Given the description of an element on the screen output the (x, y) to click on. 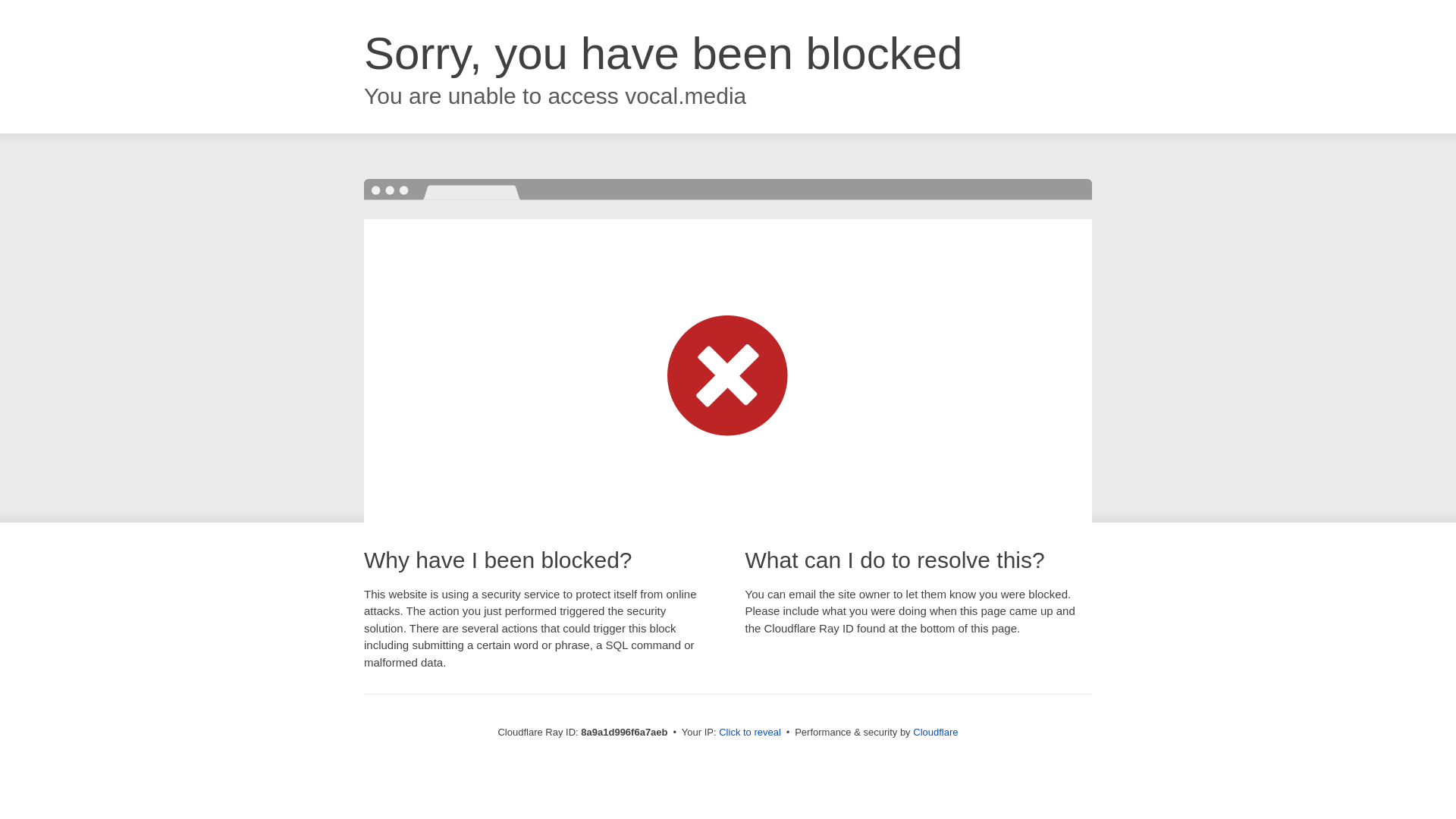
Click to reveal (749, 732)
Cloudflare (935, 731)
